Given the description of an element on the screen output the (x, y) to click on. 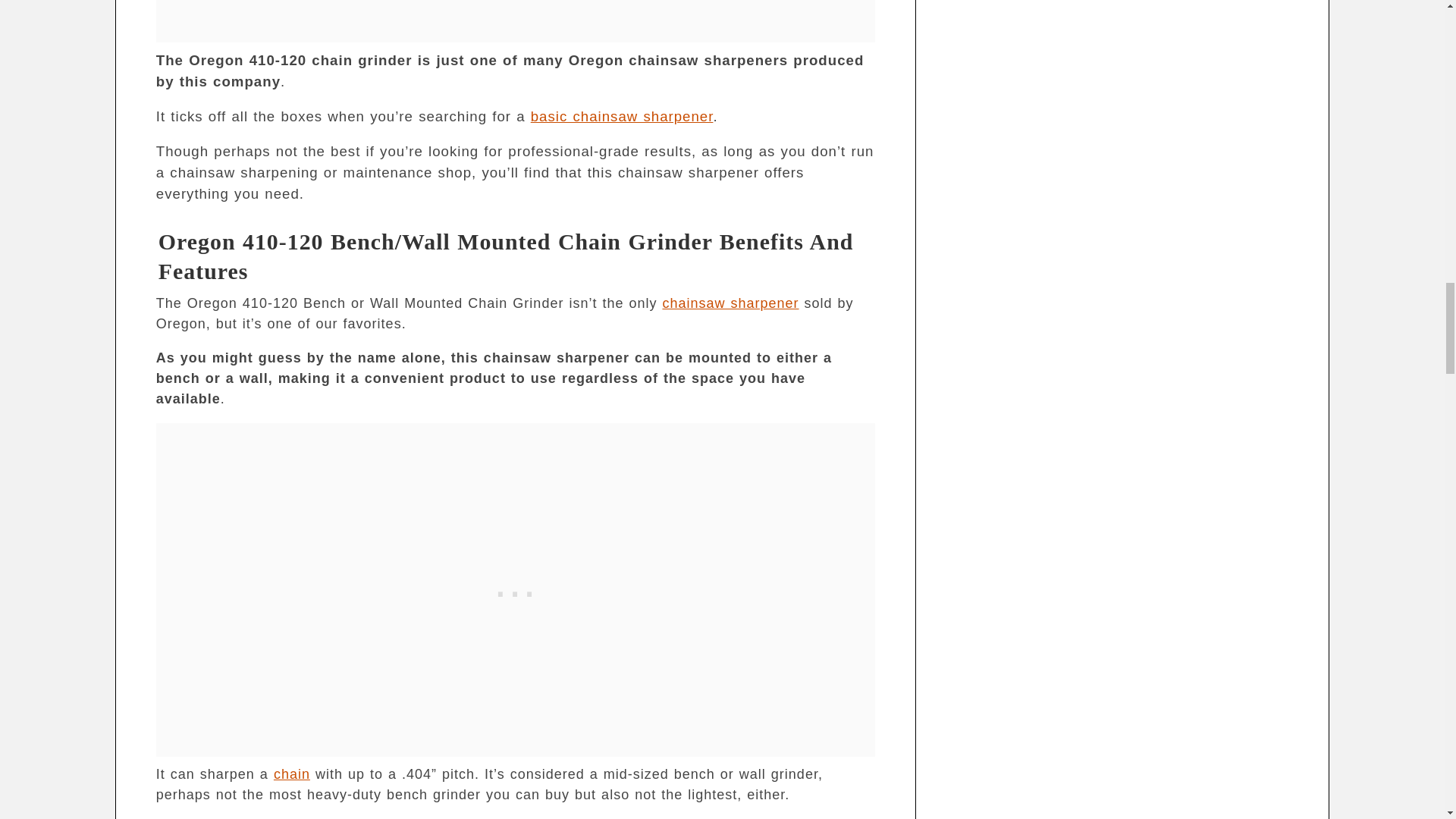
chain (291, 774)
chainsaw sharpener (729, 303)
basic chainsaw sharpener (622, 116)
